Given the description of an element on the screen output the (x, y) to click on. 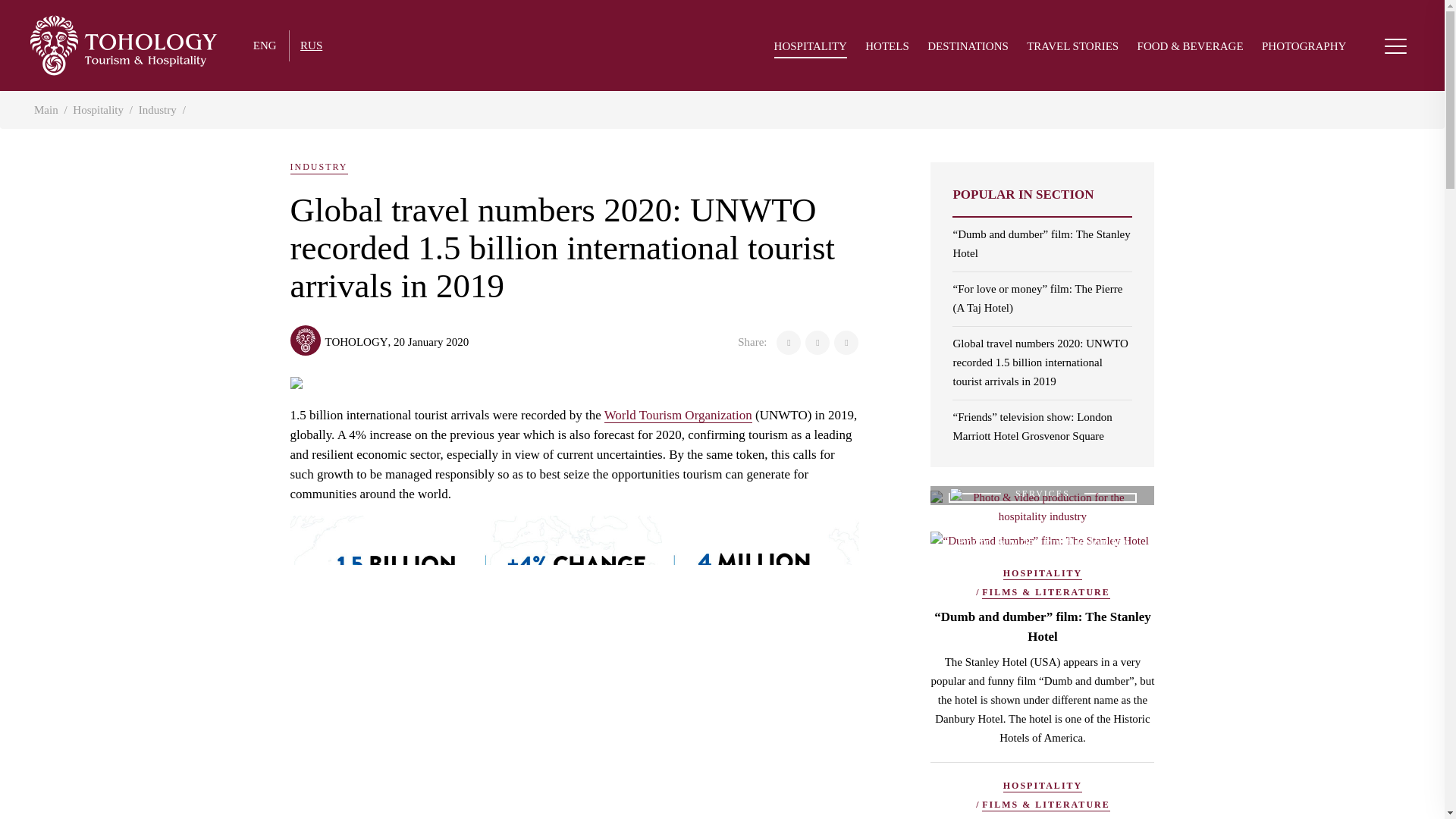
HOSPITALITY (810, 49)
ENG (264, 46)
Toggle navigation (1395, 46)
PHOTOGRAPHY (1303, 49)
RUS (310, 46)
TRAVEL STORIES (1072, 49)
HOTELS (886, 49)
DESTINATIONS (968, 49)
